Given the description of an element on the screen output the (x, y) to click on. 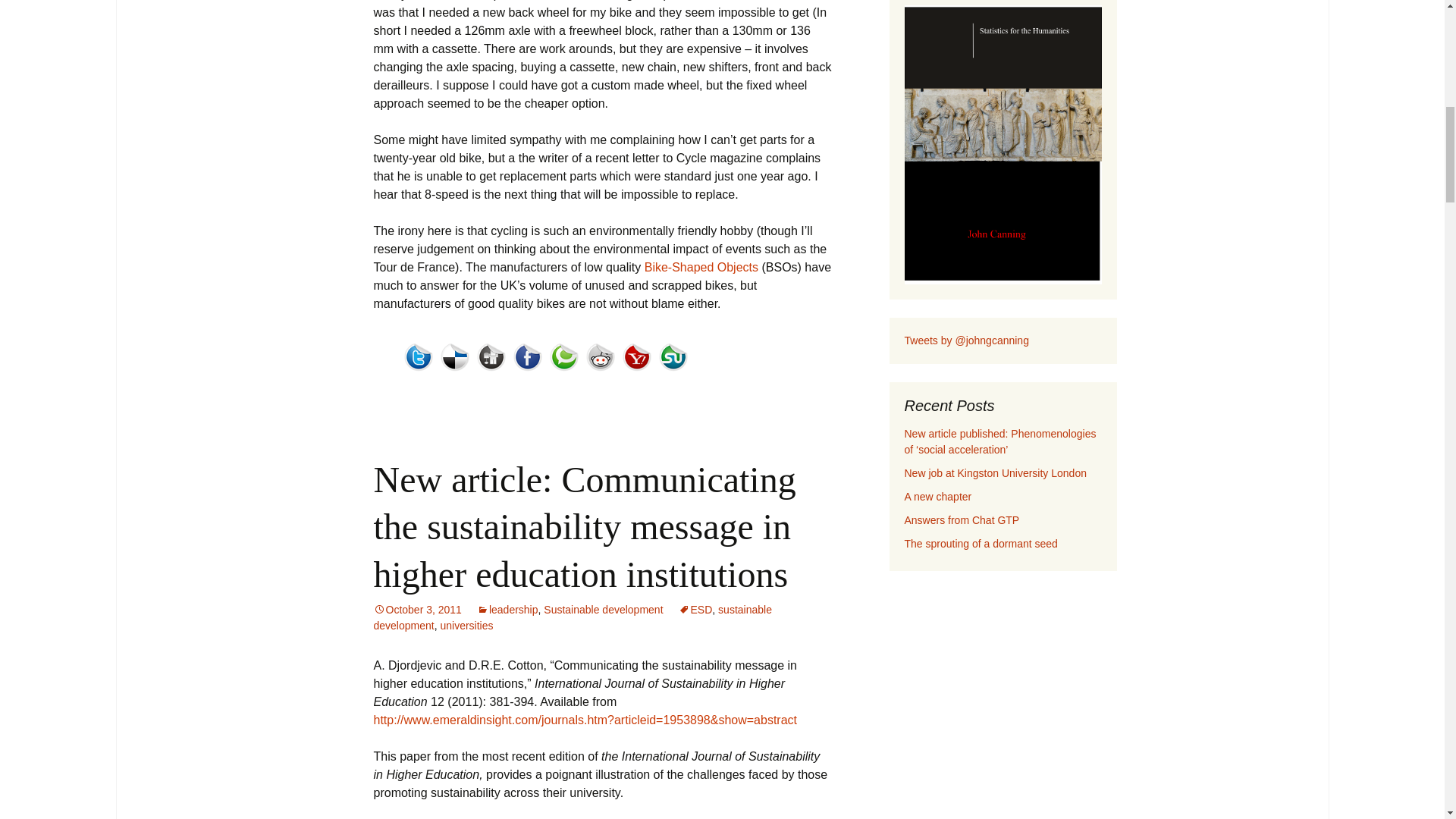
Digg (494, 361)
October 3, 2011 (416, 609)
del.icio.us (457, 361)
del.icio.us (453, 357)
Technorati (566, 361)
Digg (490, 357)
leadership (507, 609)
Facebook (526, 357)
Technorati (563, 357)
BSO (701, 267)
Facebook (530, 361)
Twitter (417, 357)
Bike-Shaped Objects (701, 267)
Reddit (603, 361)
